Given the description of an element on the screen output the (x, y) to click on. 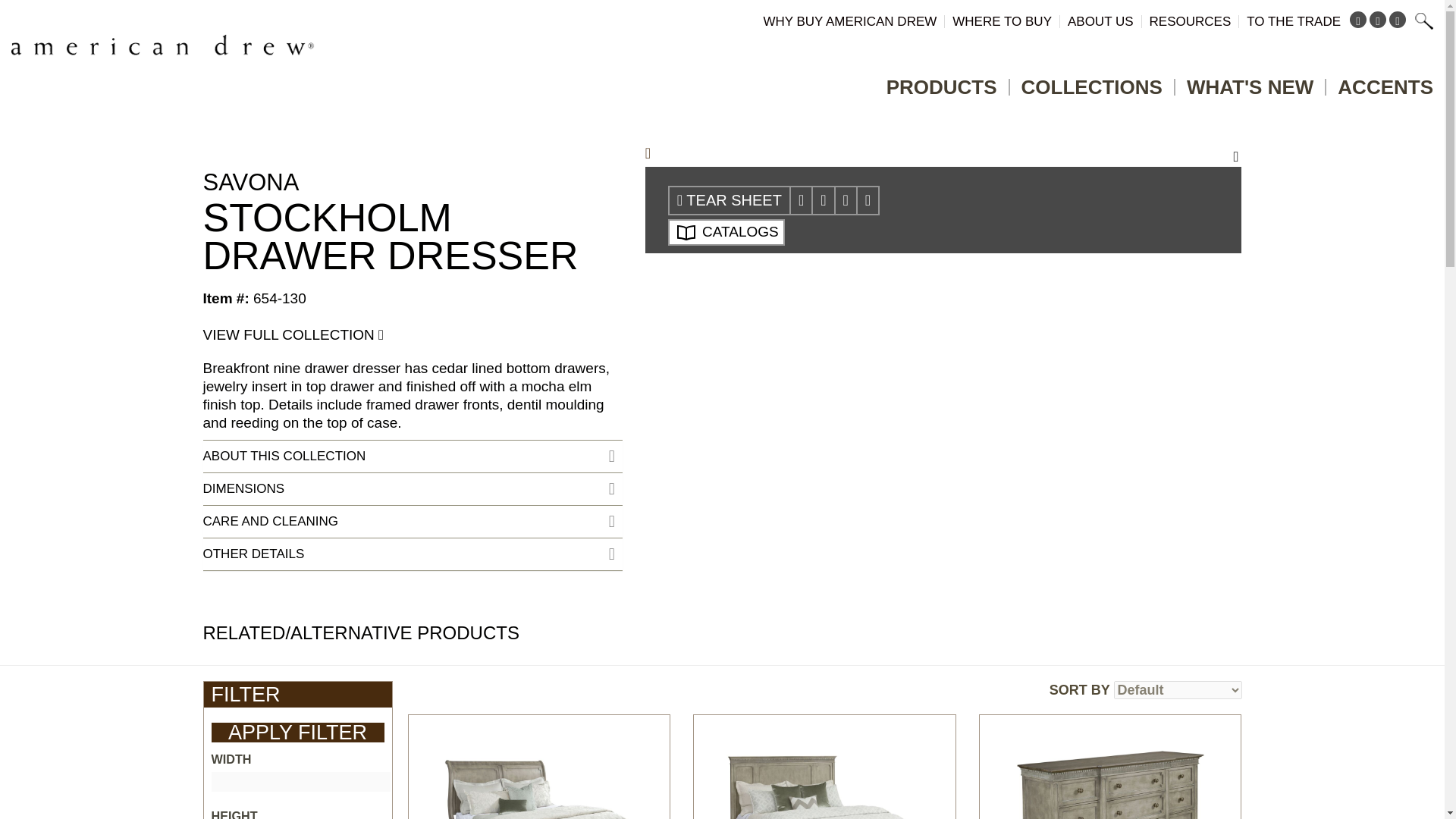
TO THE TRADE (1293, 36)
ABOUT US (1100, 36)
COLLECTIONS (1091, 92)
PRODUCTS (941, 92)
WHY BUY AMERICAN DREW (849, 36)
RESOURCES (1190, 36)
WHERE TO BUY (1001, 36)
